Given the description of an element on the screen output the (x, y) to click on. 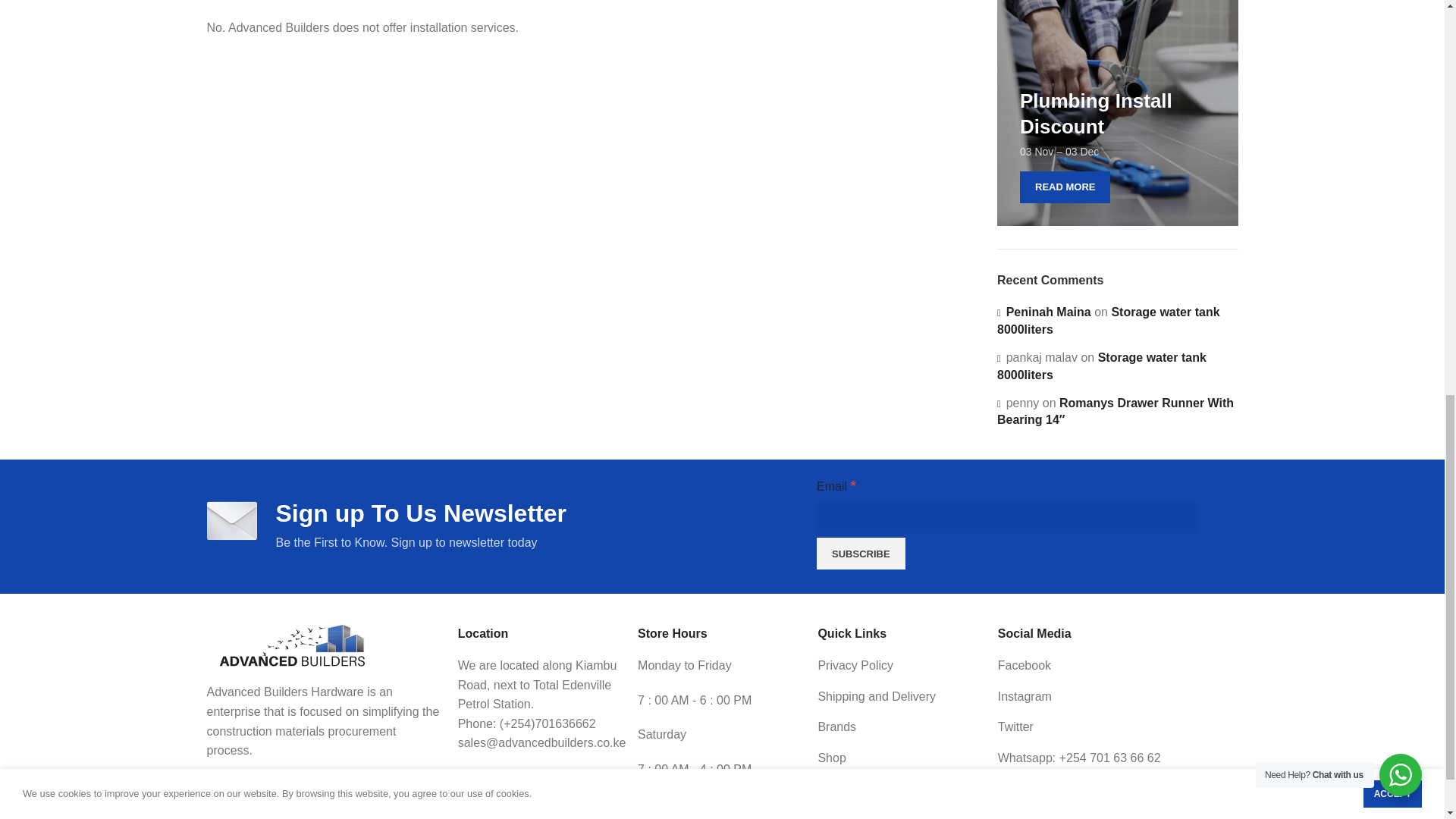
ADVANCED-LOGO-2020 (291, 645)
Subscribe (860, 553)
